Given the description of an element on the screen output the (x, y) to click on. 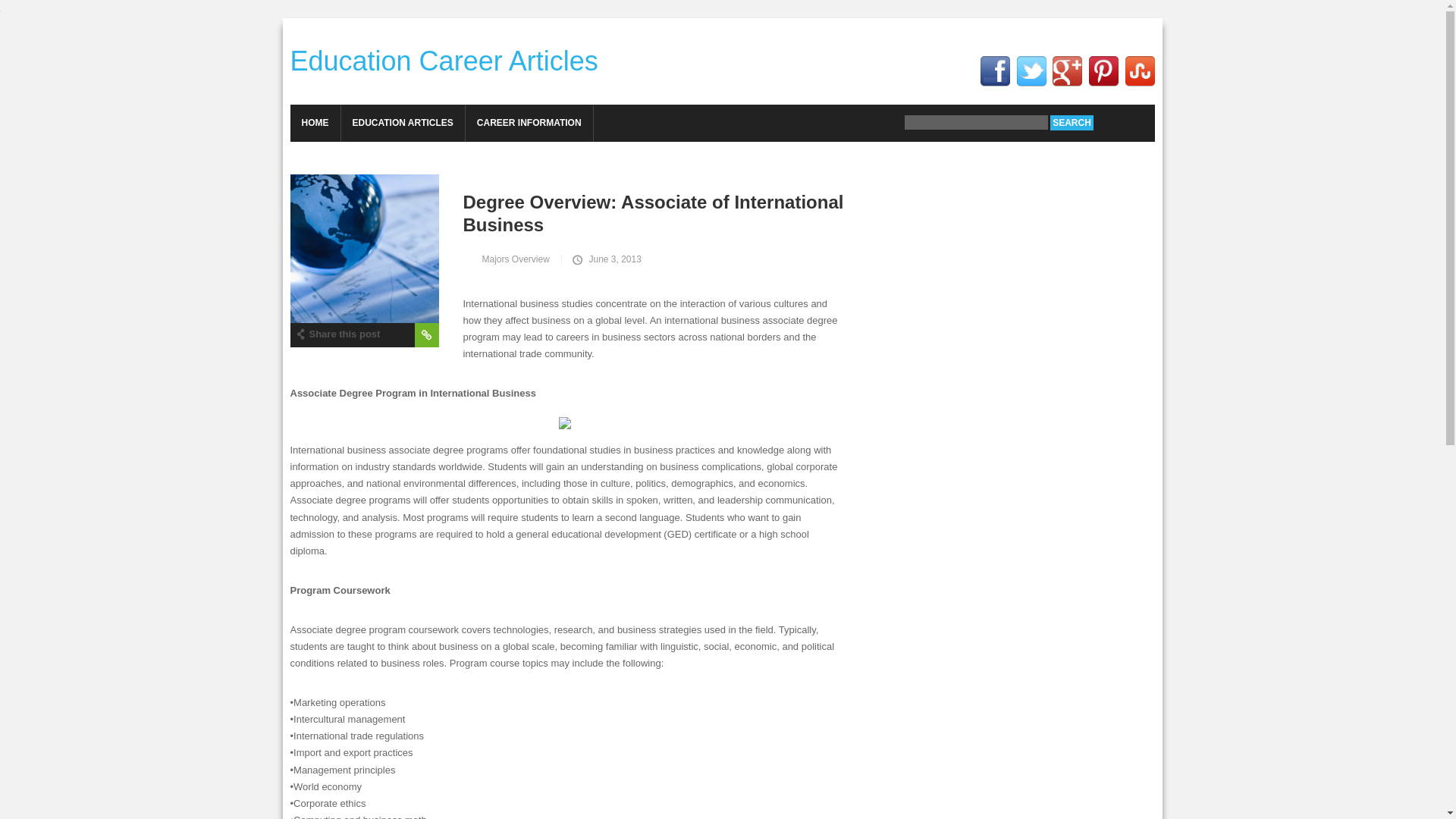
HOME (314, 122)
June 3, 2013 (604, 258)
CAREER INFORMATION (528, 122)
Education Career Articles (442, 60)
Search (1071, 122)
EDUCATION ARTICLES (402, 122)
Degree Overview: Associate of International Business (572, 212)
Majors Overview (511, 258)
9:00 AM (604, 258)
Share this post (336, 332)
